Given the description of an element on the screen output the (x, y) to click on. 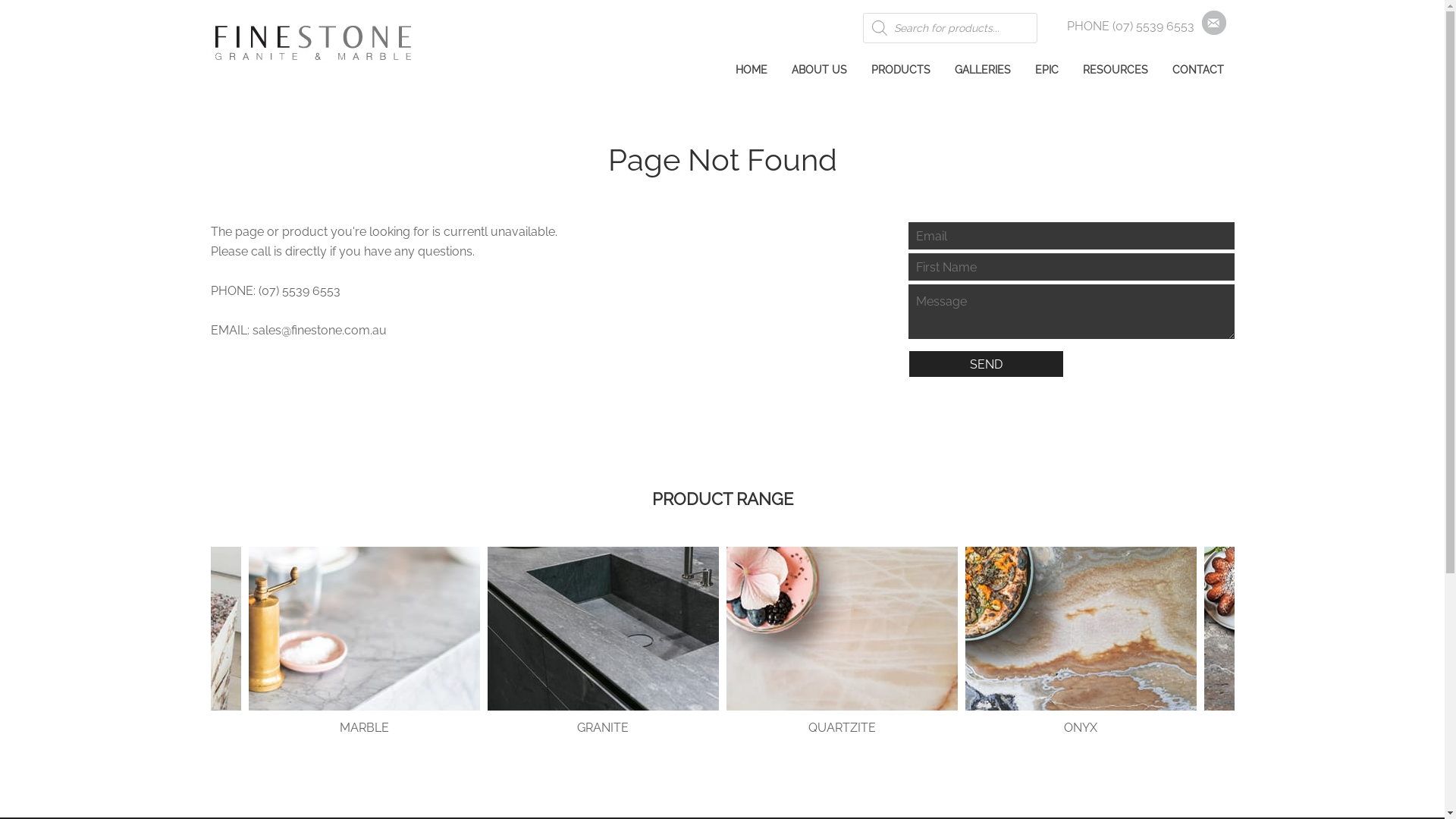
GALLERIES Element type: text (981, 69)
ABOUT US Element type: text (819, 69)
CONTACT Element type: text (1197, 69)
MARBLE Element type: text (364, 641)
(07) 5539 6553 Element type: text (298, 290)
RESOURCES Element type: text (1115, 69)
PHONE (07) 5539 6553 Element type: text (1129, 25)
EPIC Element type: text (1045, 69)
QUARTZITE Element type: text (841, 641)
Send Element type: text (985, 363)
sales@finestone.com.au Element type: text (318, 330)
TRAVERTINE Element type: text (1319, 641)
GRANITE Element type: text (602, 641)
ONYX Element type: text (1079, 641)
PRODUCTS Element type: text (899, 69)
EPIC PORCELAIN Element type: text (124, 641)
HOME Element type: text (751, 69)
